Given the description of an element on the screen output the (x, y) to click on. 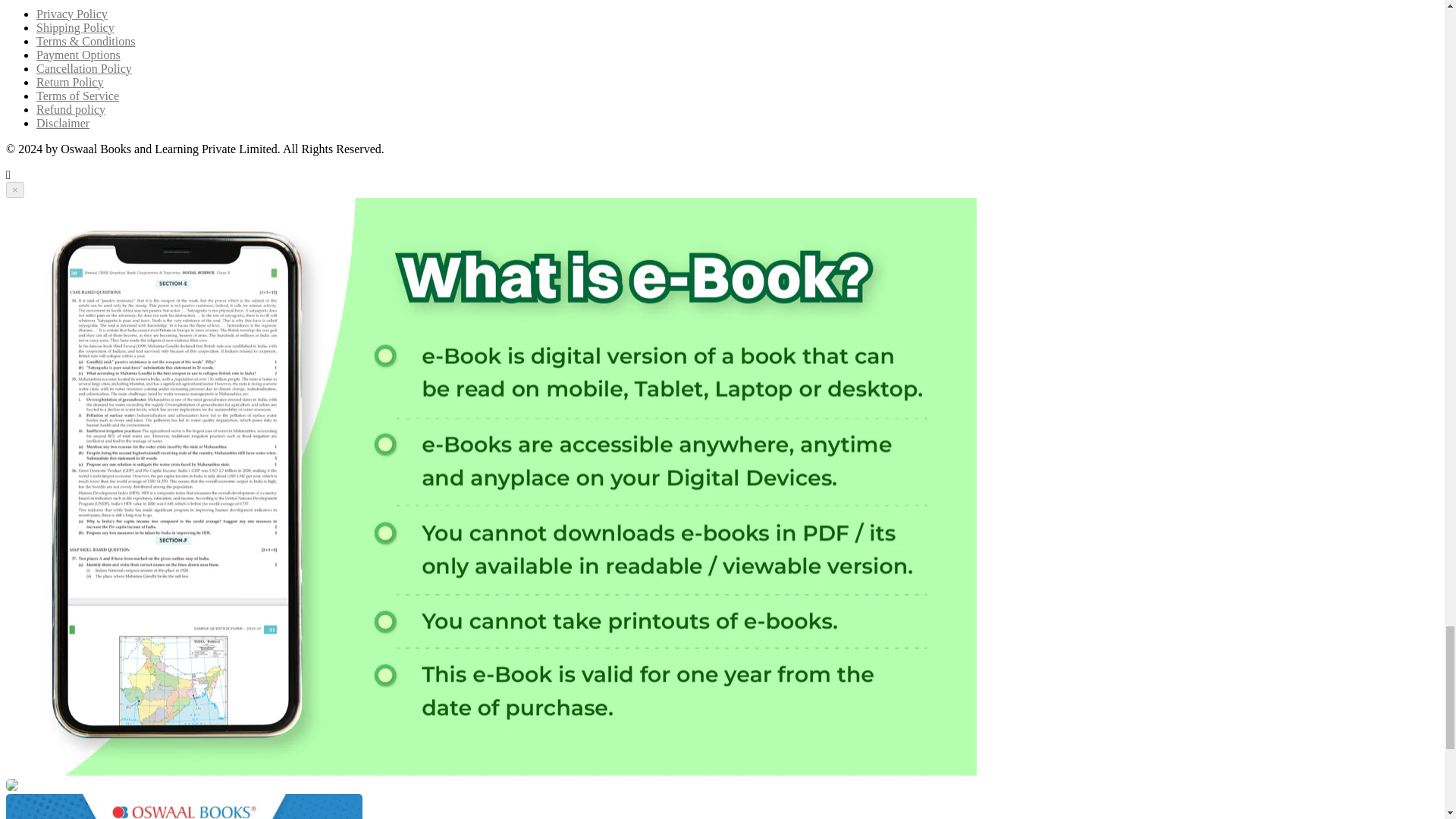
Oswaal Books (11, 786)
